Given the description of an element on the screen output the (x, y) to click on. 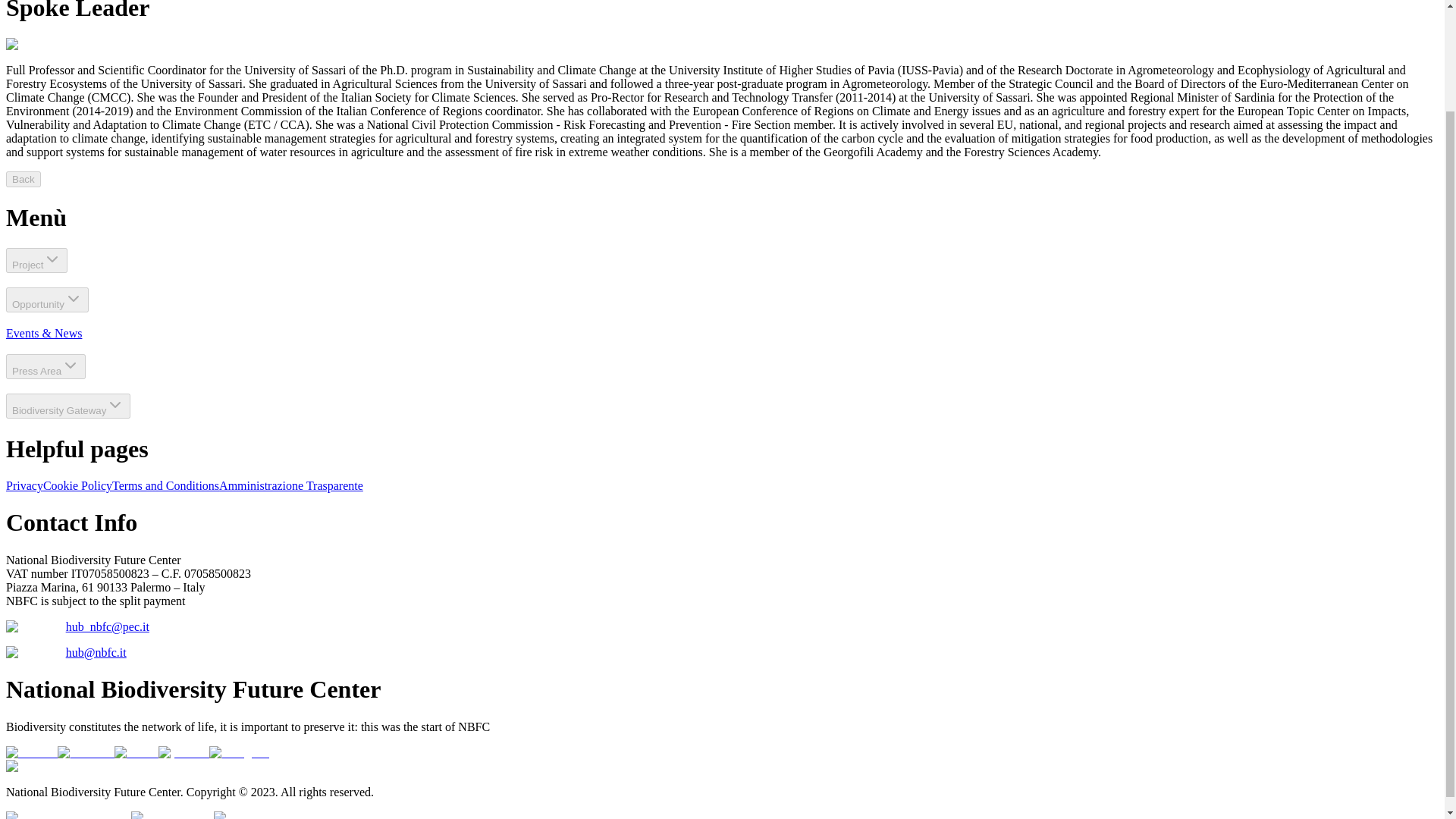
Amministrazione Trasparente (290, 485)
Opportunity (46, 299)
Press Area (45, 366)
Cookie Policy (77, 485)
Project (35, 260)
Back (22, 179)
Terms and Conditions (165, 485)
Privacy (24, 485)
Biodiversity Gateway (68, 405)
